Given the description of an element on the screen output the (x, y) to click on. 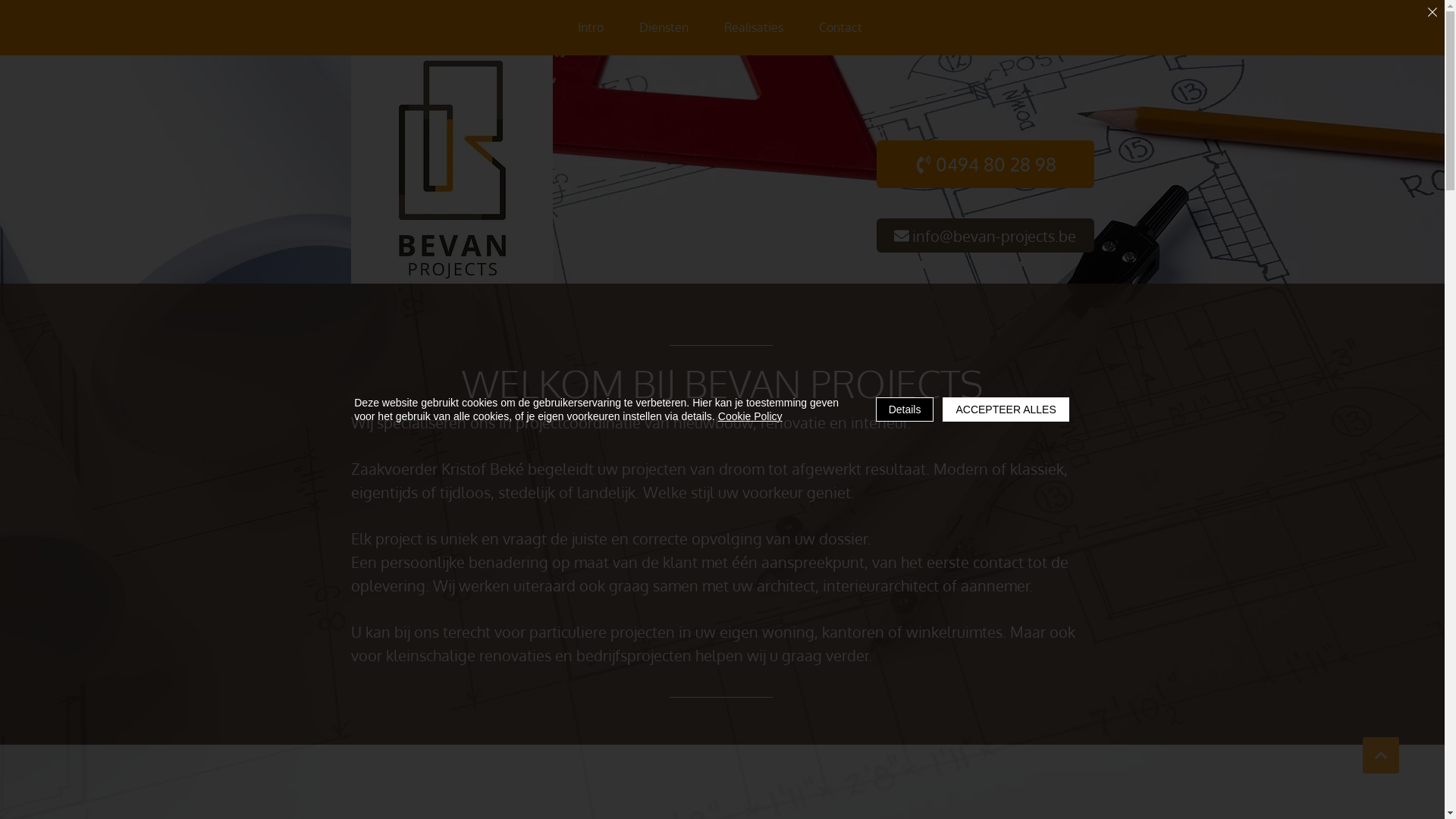
Realisaties Element type: text (753, 27)
Details Element type: text (904, 409)
Intro Element type: text (590, 27)
Contact Element type: text (839, 27)
info@bevan-projects.be Element type: text (985, 235)
0494 80 28 98 Element type: text (985, 164)
Diensten Element type: text (663, 27)
Cookie Policy Element type: text (750, 416)
ACCEPTEER ALLES Element type: text (1005, 409)
